Given the description of an element on the screen output the (x, y) to click on. 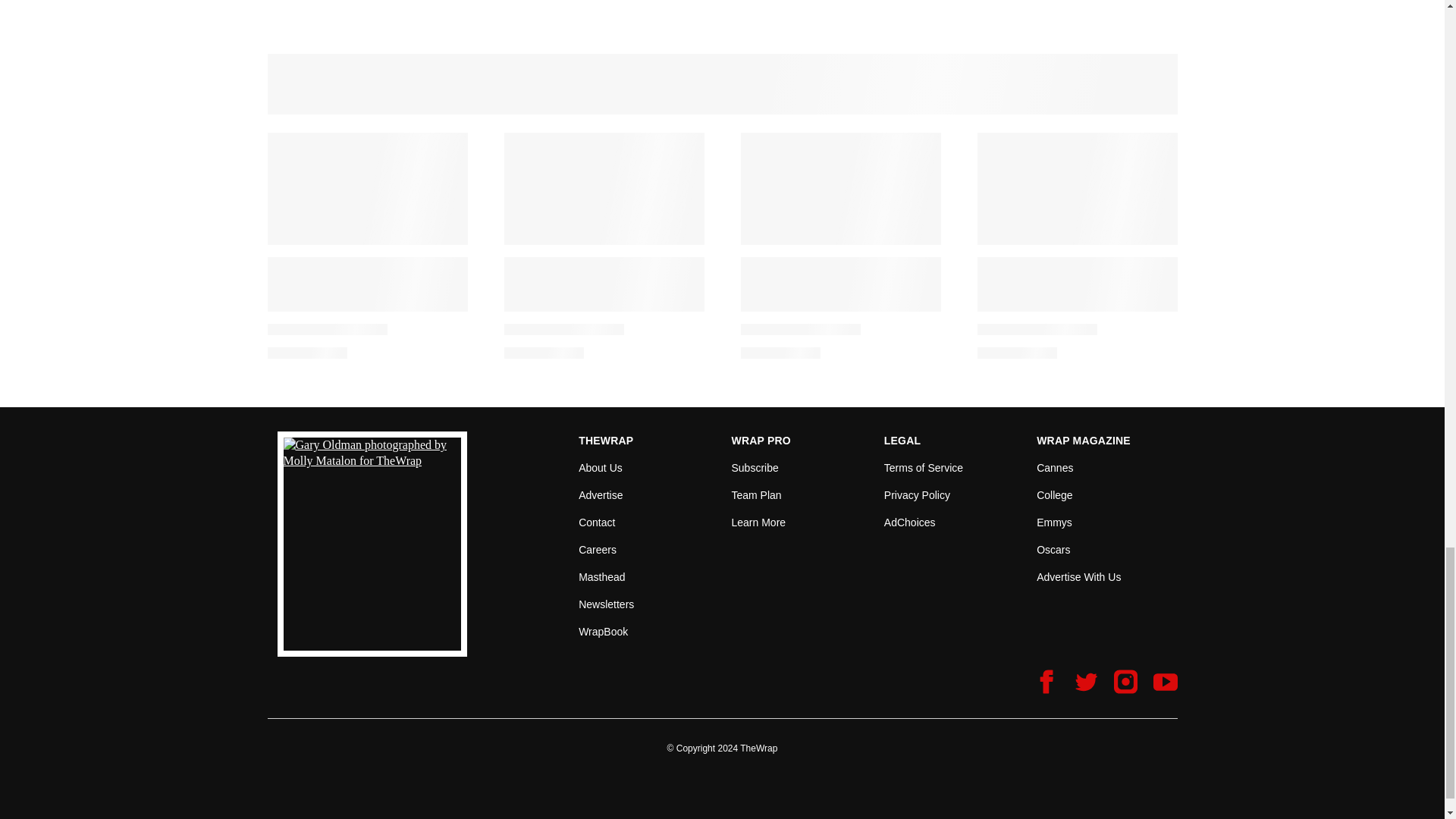
Learn more about becoming a member (758, 522)
